Given the description of an element on the screen output the (x, y) to click on. 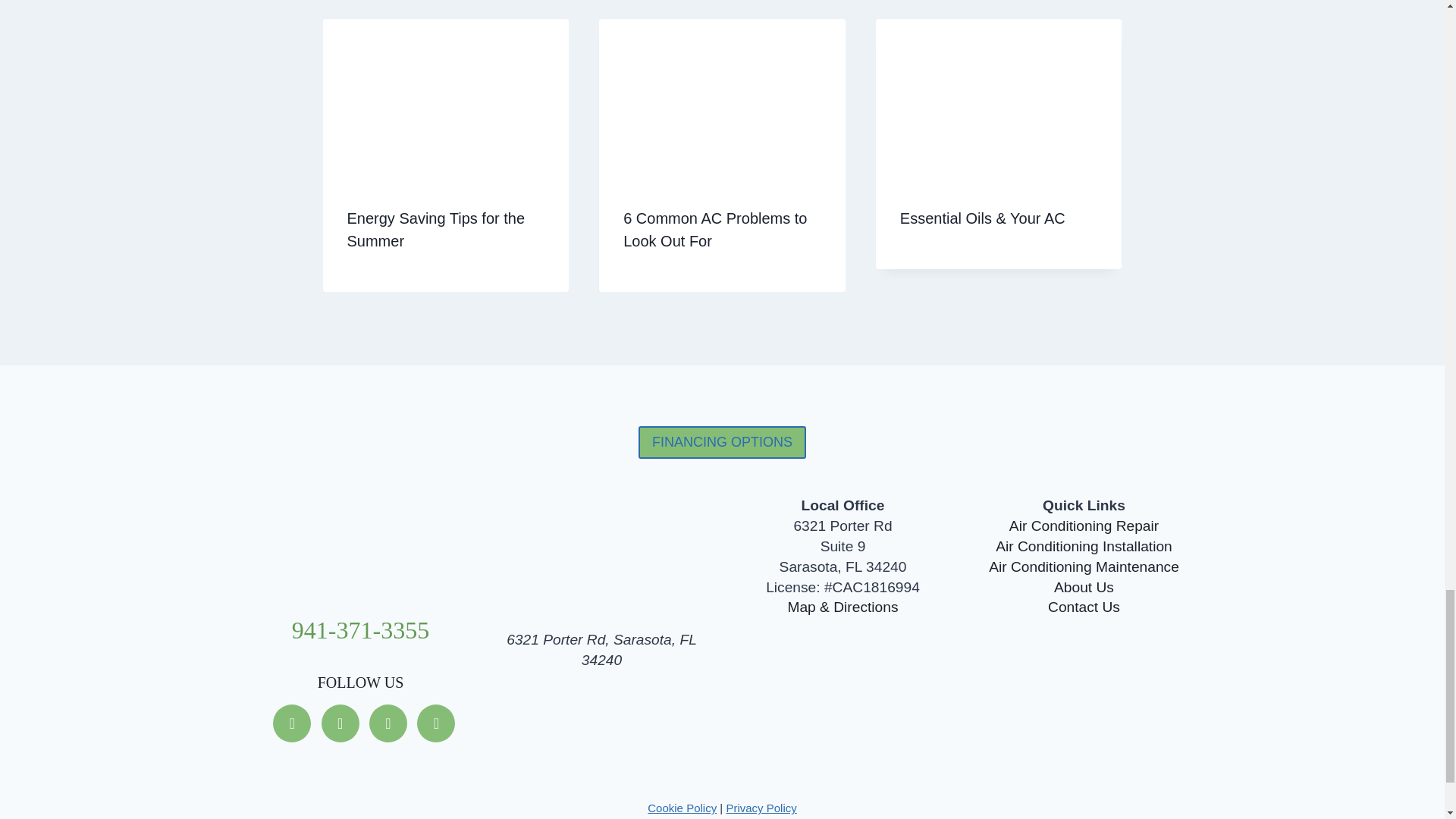
941-371-3355 (360, 629)
Default Label (388, 722)
Default Label (435, 722)
Twitter (340, 722)
Facebook (292, 722)
